Given the description of an element on the screen output the (x, y) to click on. 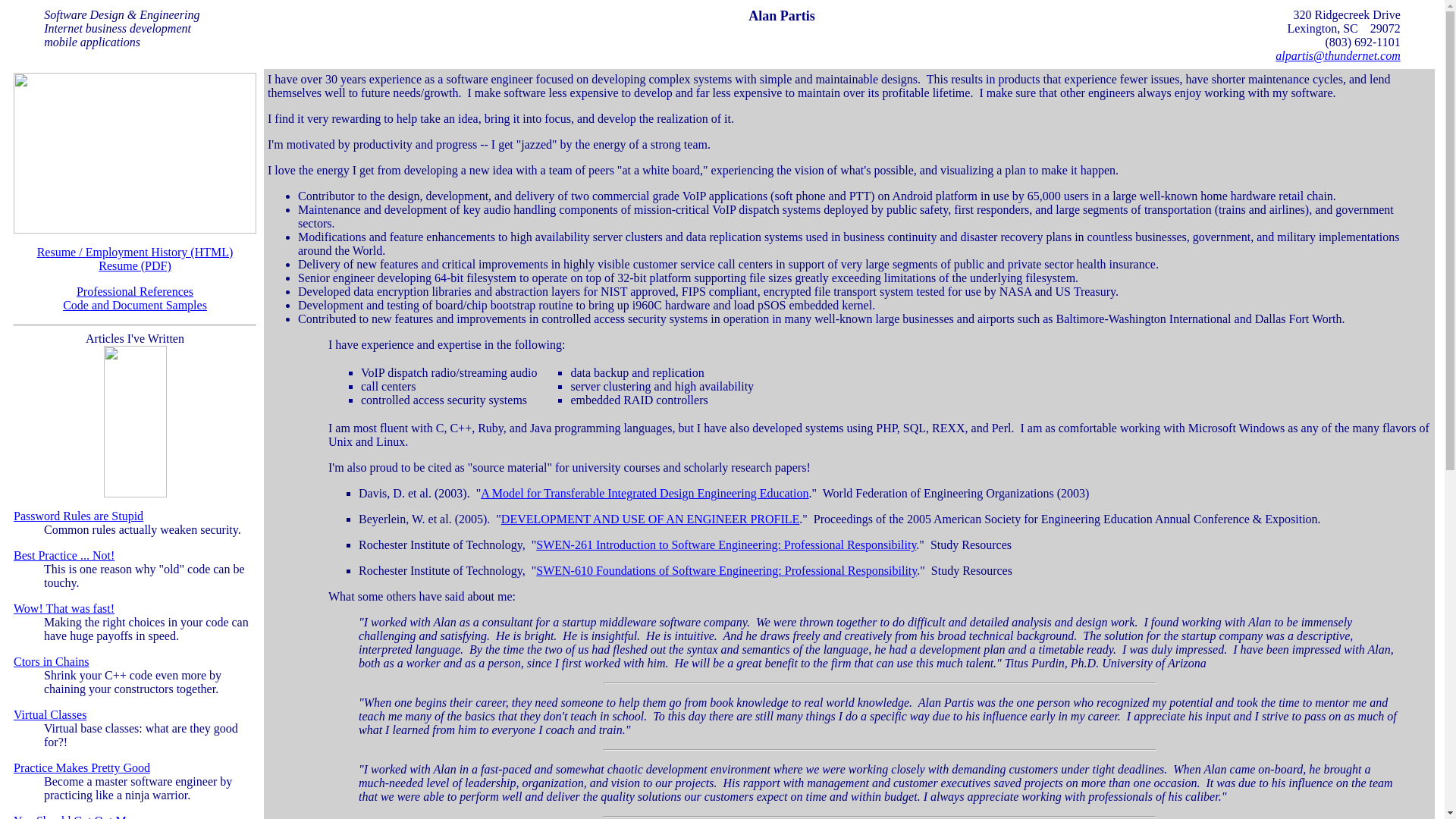
Ctors in Chains (50, 661)
You Should Get Out More (77, 816)
Code and Document Samples (134, 305)
Wow! That was fast! (64, 608)
Virtual Classes (49, 714)
DEVELOPMENT AND USE OF AN ENGINEER PROFILE (649, 518)
Password Rules are Stupid (77, 515)
